Given the description of an element on the screen output the (x, y) to click on. 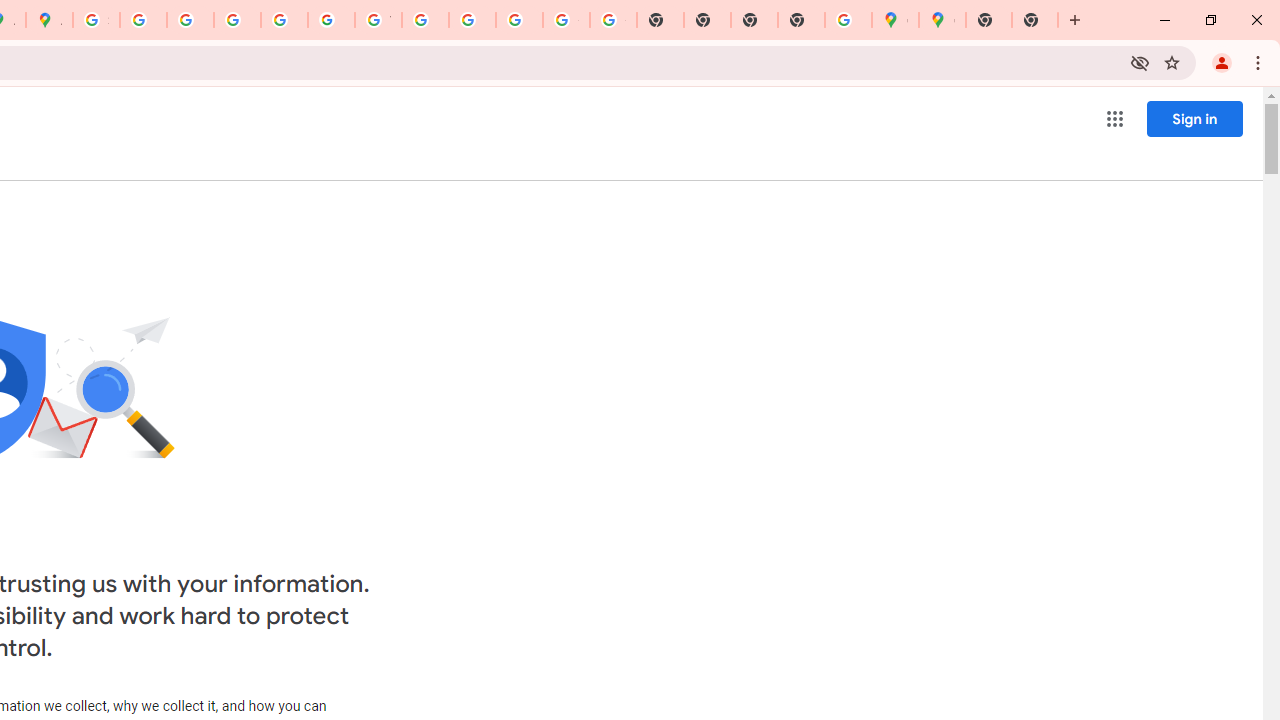
Sign in - Google Accounts (96, 20)
New Tab (1035, 20)
Use Google Maps in Space - Google Maps Help (848, 20)
New Tab (989, 20)
Privacy Help Center - Policies Help (189, 20)
YouTube (377, 20)
